Given the description of an element on the screen output the (x, y) to click on. 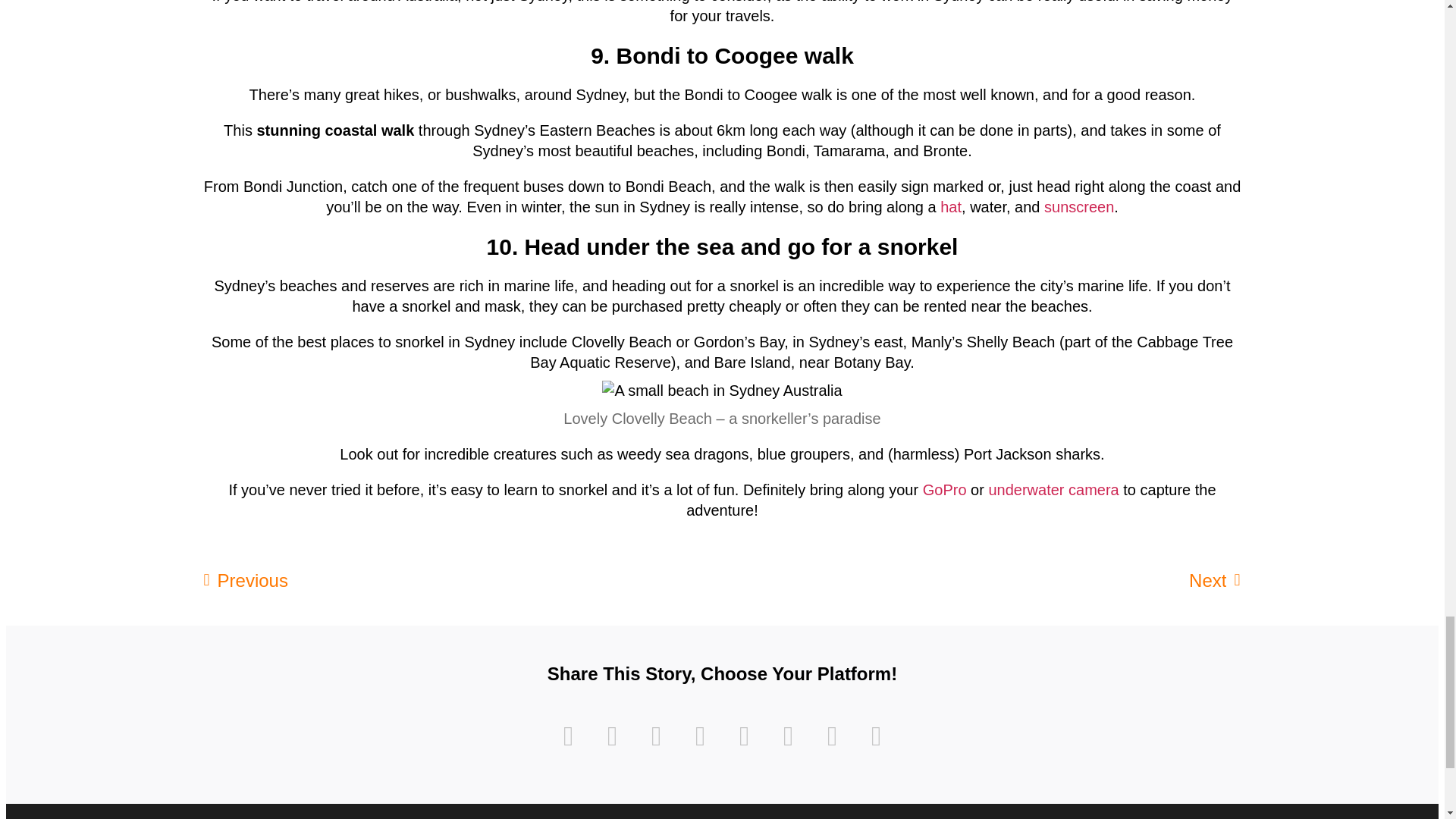
Next (981, 580)
sunscreen (1078, 207)
GoPro (944, 489)
Previous (462, 580)
underwater camera (1053, 489)
hat (950, 207)
